Given the description of an element on the screen output the (x, y) to click on. 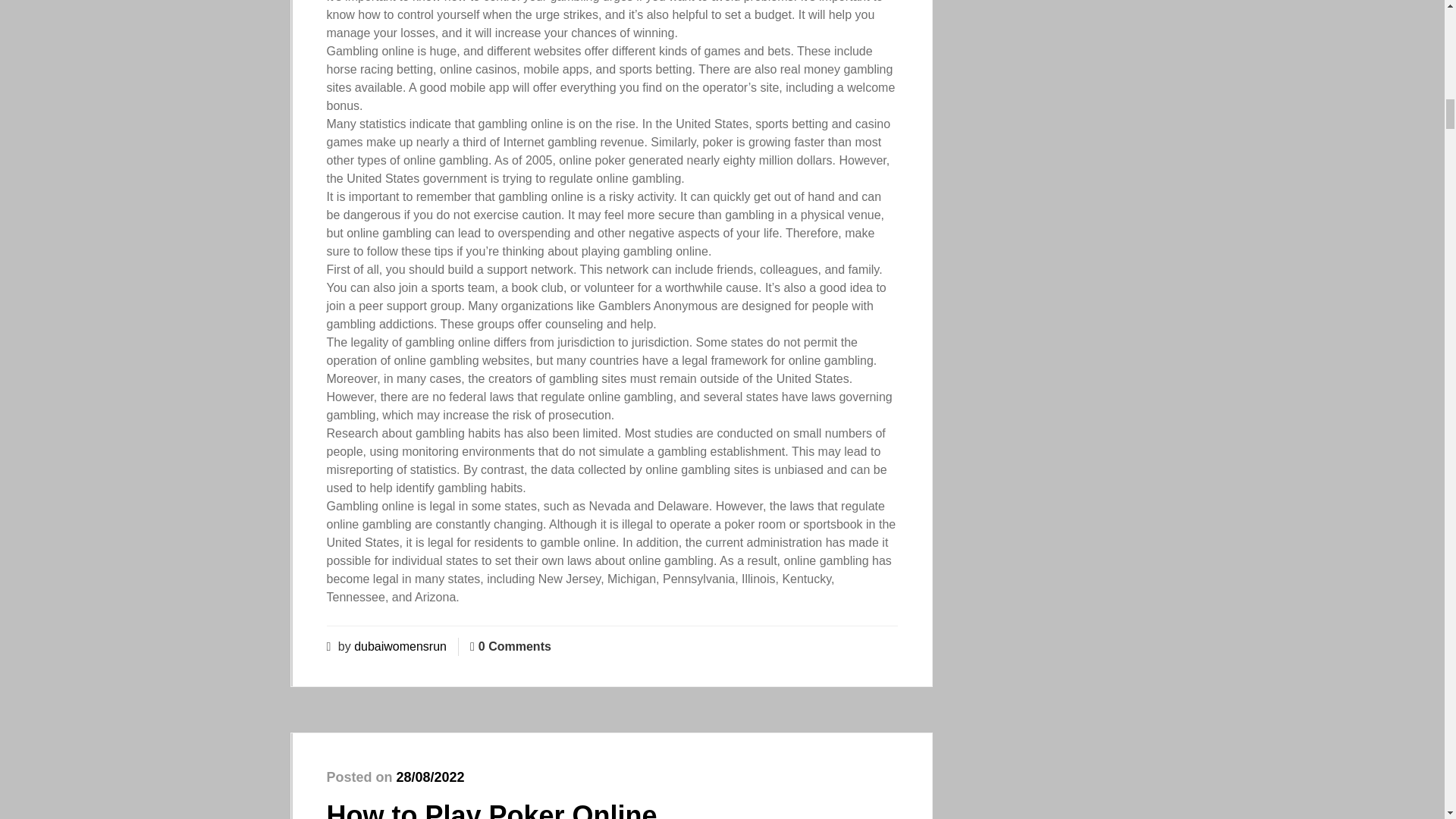
dubaiwomensrun (399, 645)
How to Play Poker Online (491, 809)
